Given the description of an element on the screen output the (x, y) to click on. 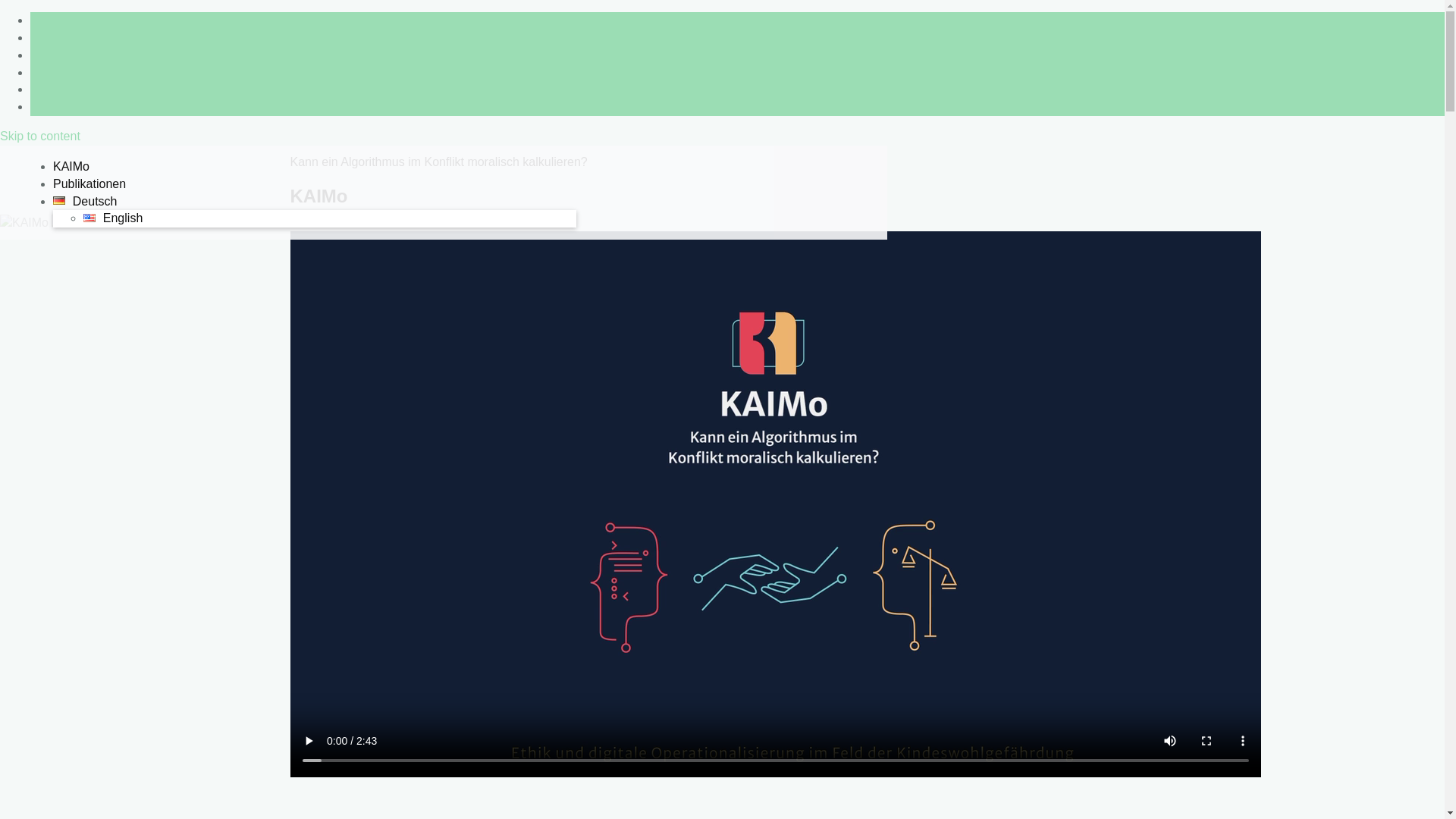
KAIMo Element type: text (71, 166)
Publikationen Element type: text (89, 183)
Deutsch Element type: text (85, 200)
Skip to content Element type: text (40, 135)
English Element type: text (112, 217)
